Given the description of an element on the screen output the (x, y) to click on. 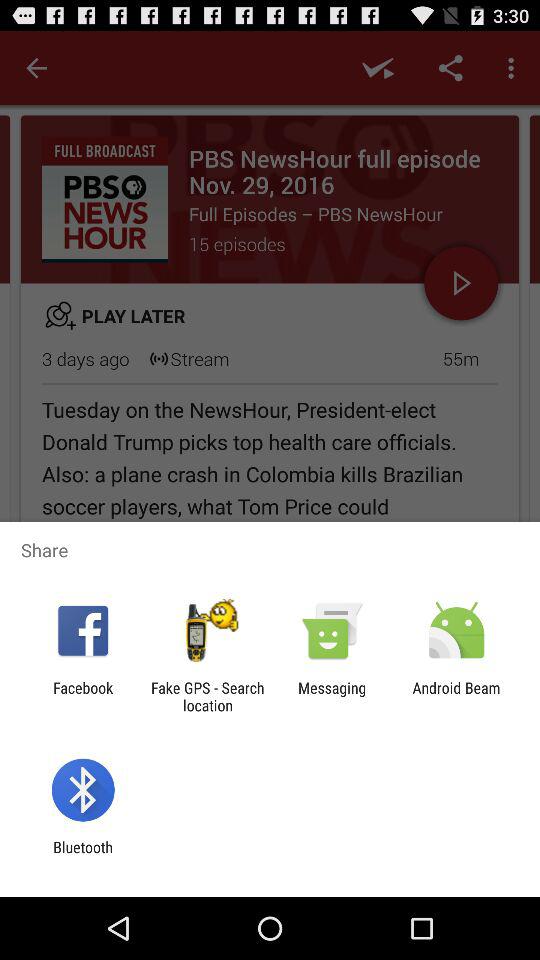
turn off item to the left of the messaging app (207, 696)
